Given the description of an element on the screen output the (x, y) to click on. 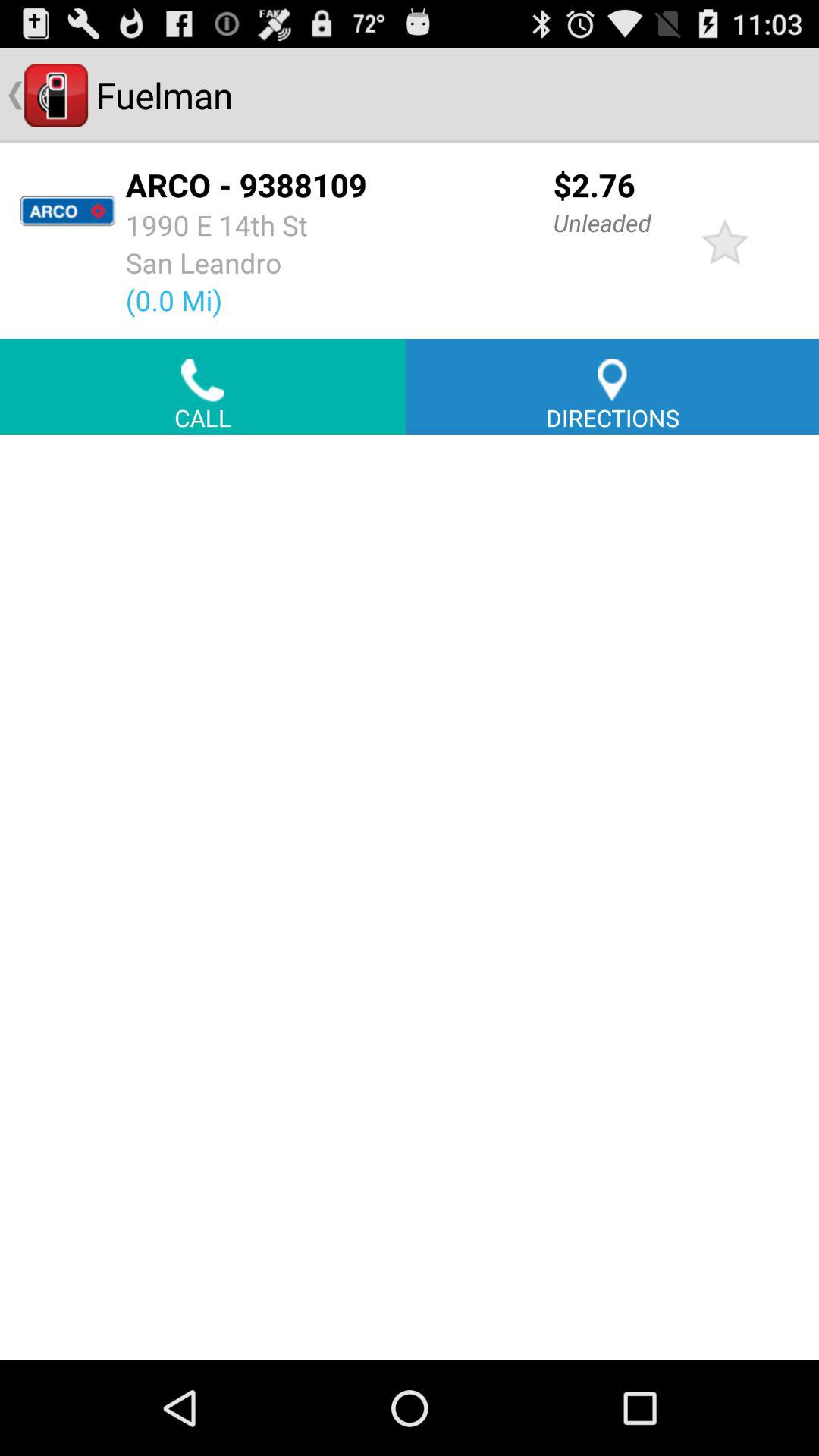
tap app below the (0.0 mi) (203, 386)
